Given the description of an element on the screen output the (x, y) to click on. 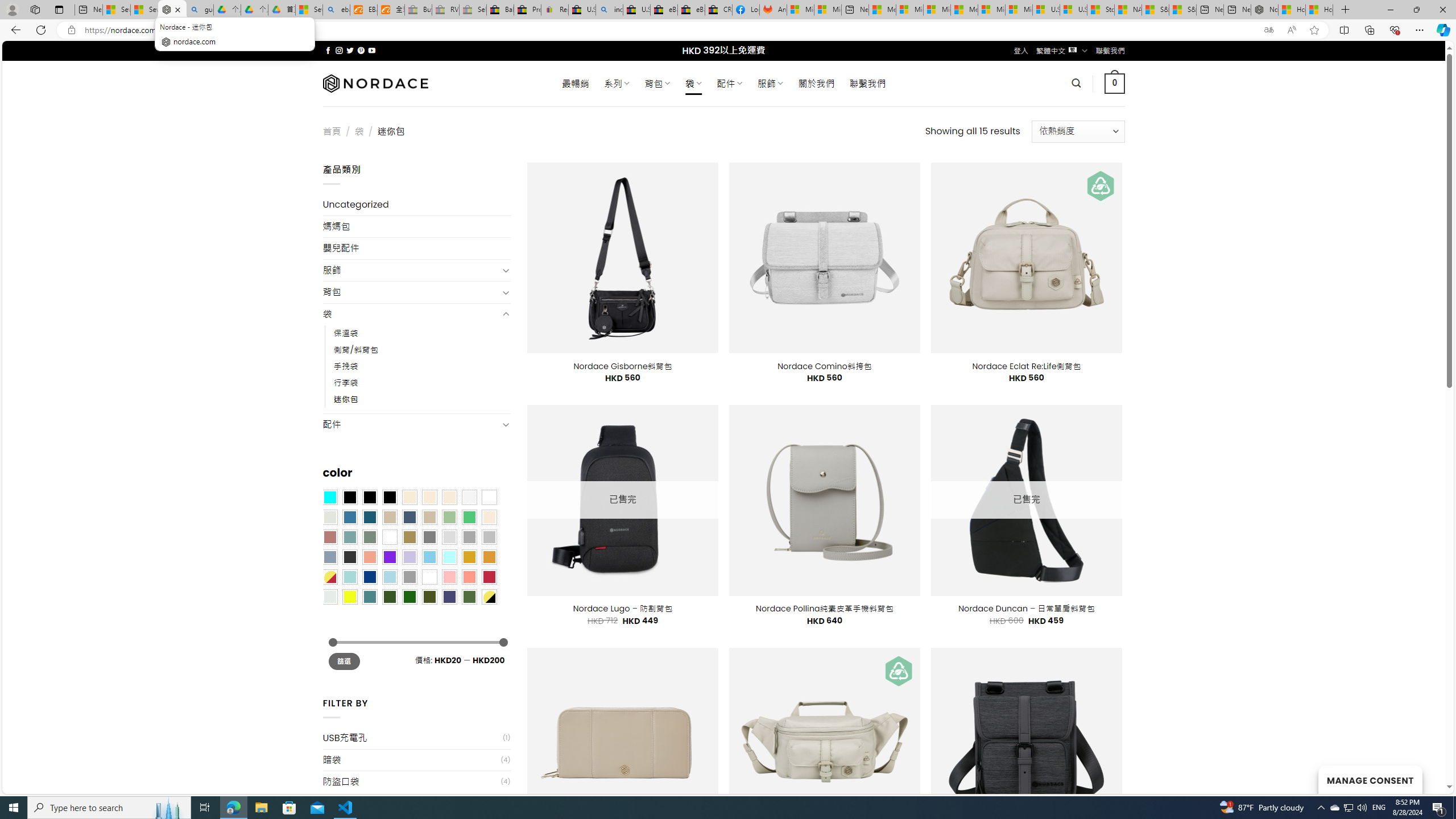
Microsoft account | Home (936, 9)
App bar (728, 29)
Press Room - eBay Inc. (527, 9)
Register: Create a personal eBay account (554, 9)
